Given the description of an element on the screen output the (x, y) to click on. 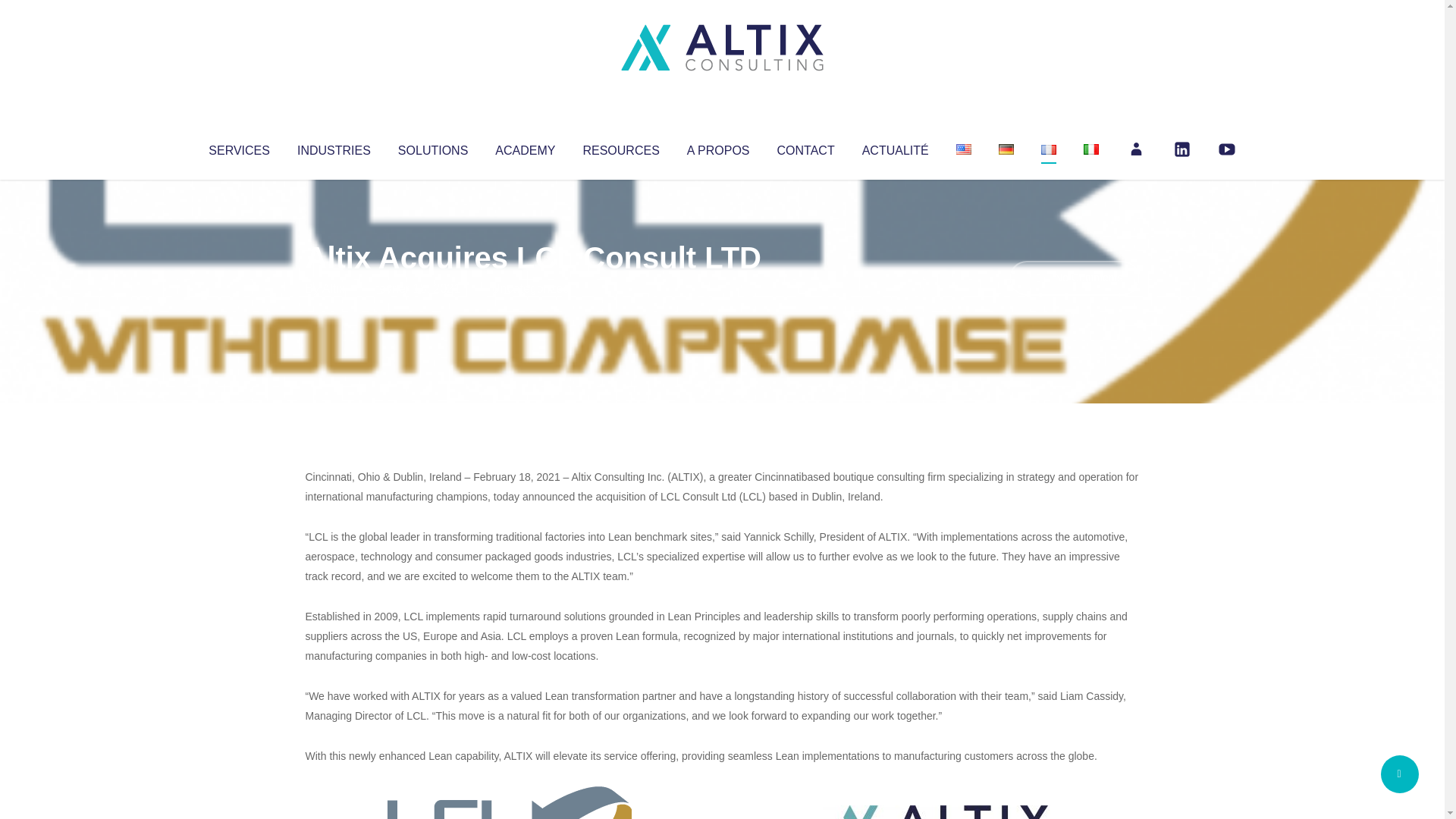
Uncategorized (530, 287)
SERVICES (238, 146)
SOLUTIONS (432, 146)
No Comments (1073, 278)
Articles par Altix (333, 287)
ACADEMY (524, 146)
RESOURCES (620, 146)
Altix (333, 287)
INDUSTRIES (334, 146)
A PROPOS (718, 146)
